Given the description of an element on the screen output the (x, y) to click on. 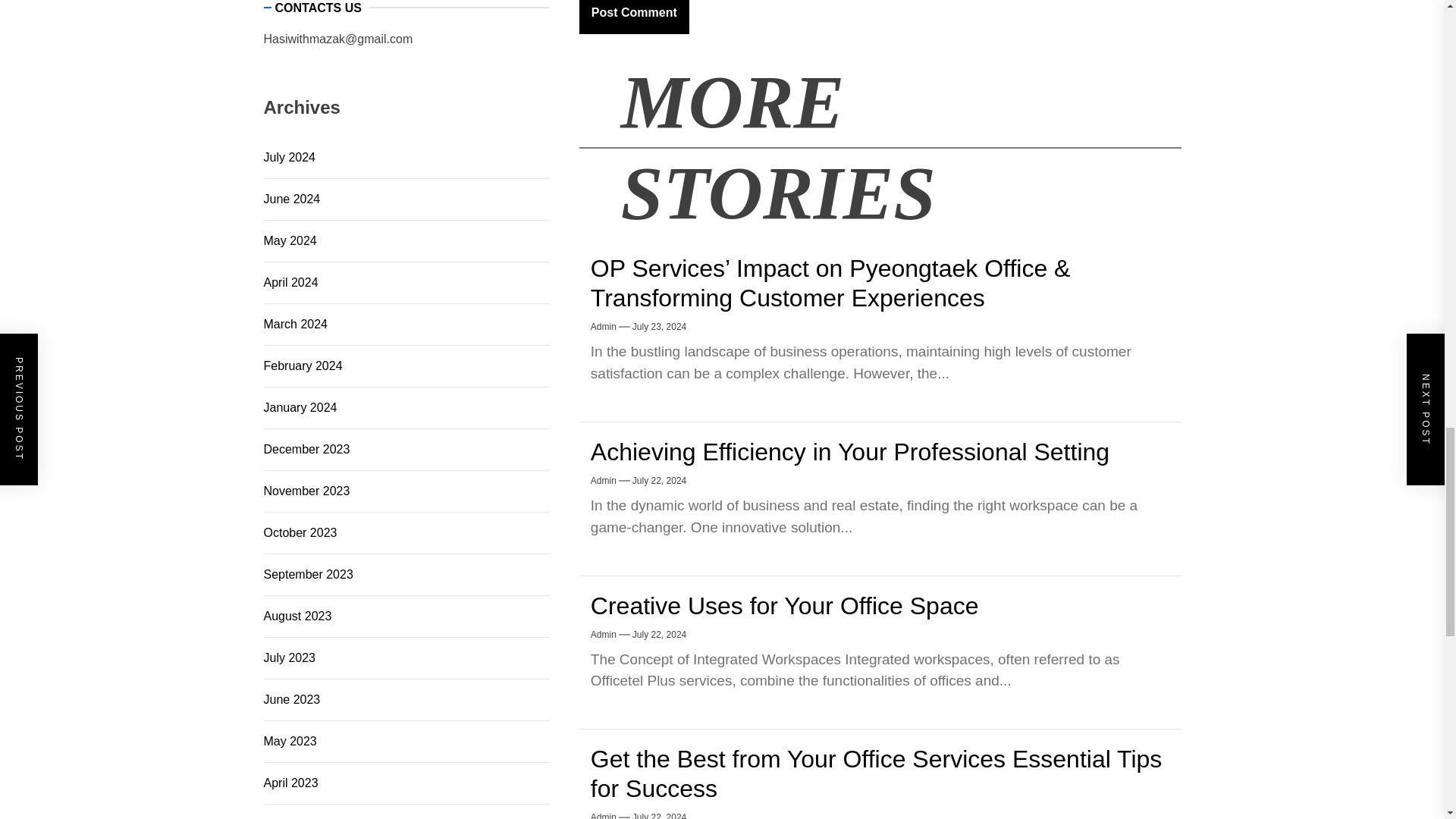
Post Comment (633, 17)
